Given the description of an element on the screen output the (x, y) to click on. 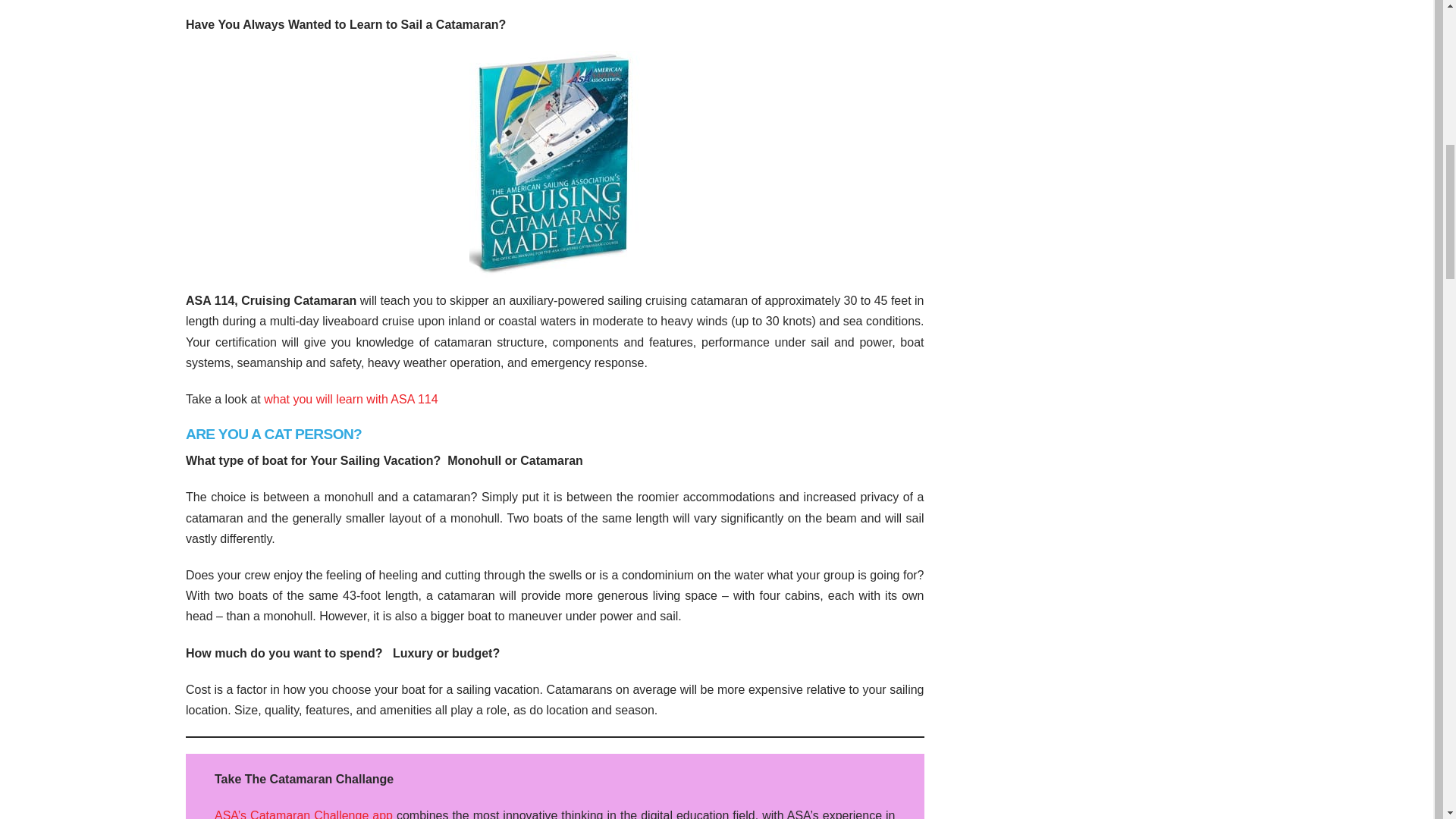
what you will learn with ASA 114 (349, 399)
